Given the description of an element on the screen output the (x, y) to click on. 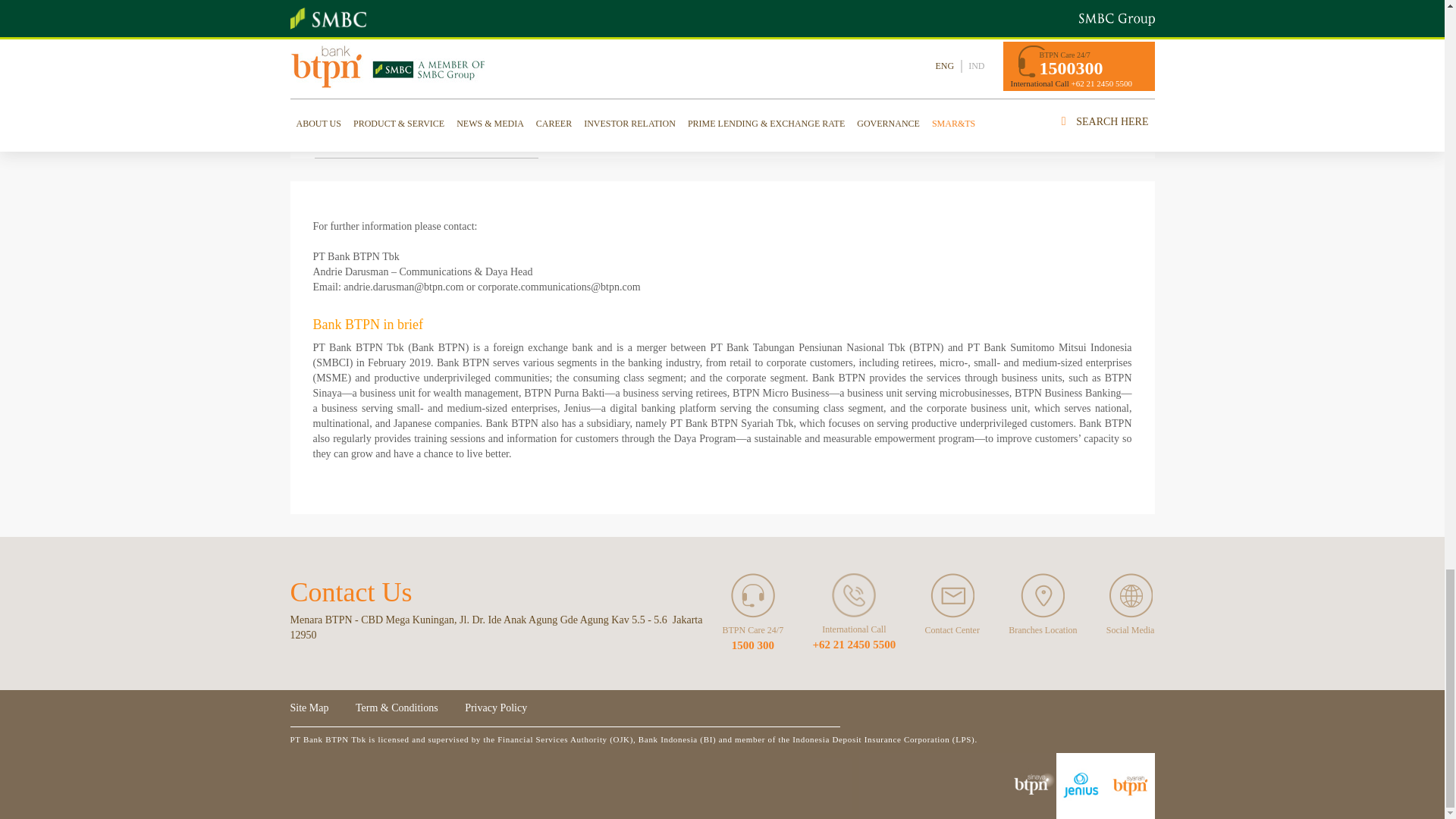
Branches Location (1042, 595)
BTPN Call (853, 595)
Contact Center (952, 595)
Social Media (1130, 595)
